Given the description of an element on the screen output the (x, y) to click on. 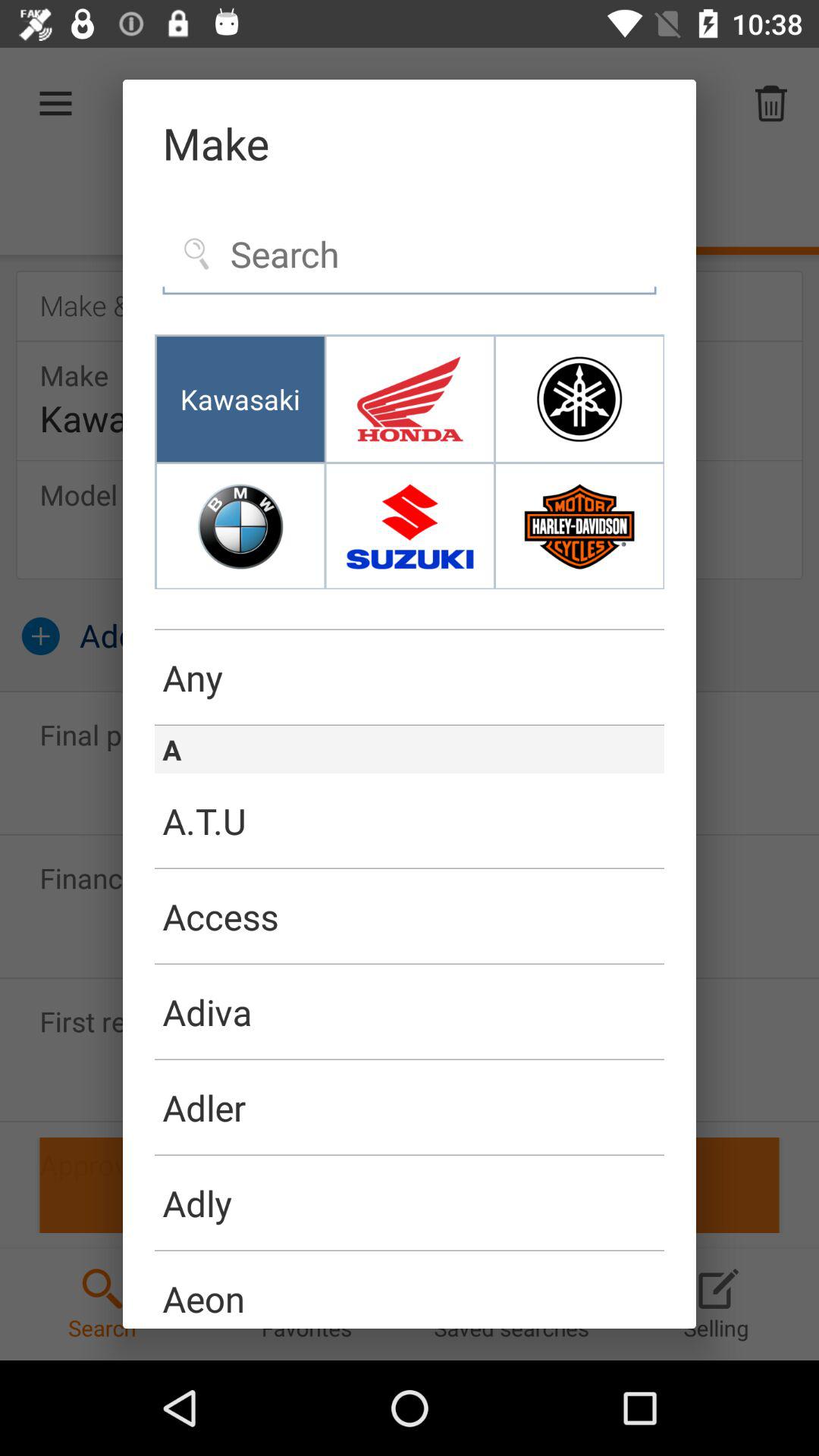
press the adly (409, 1203)
